Given the description of an element on the screen output the (x, y) to click on. 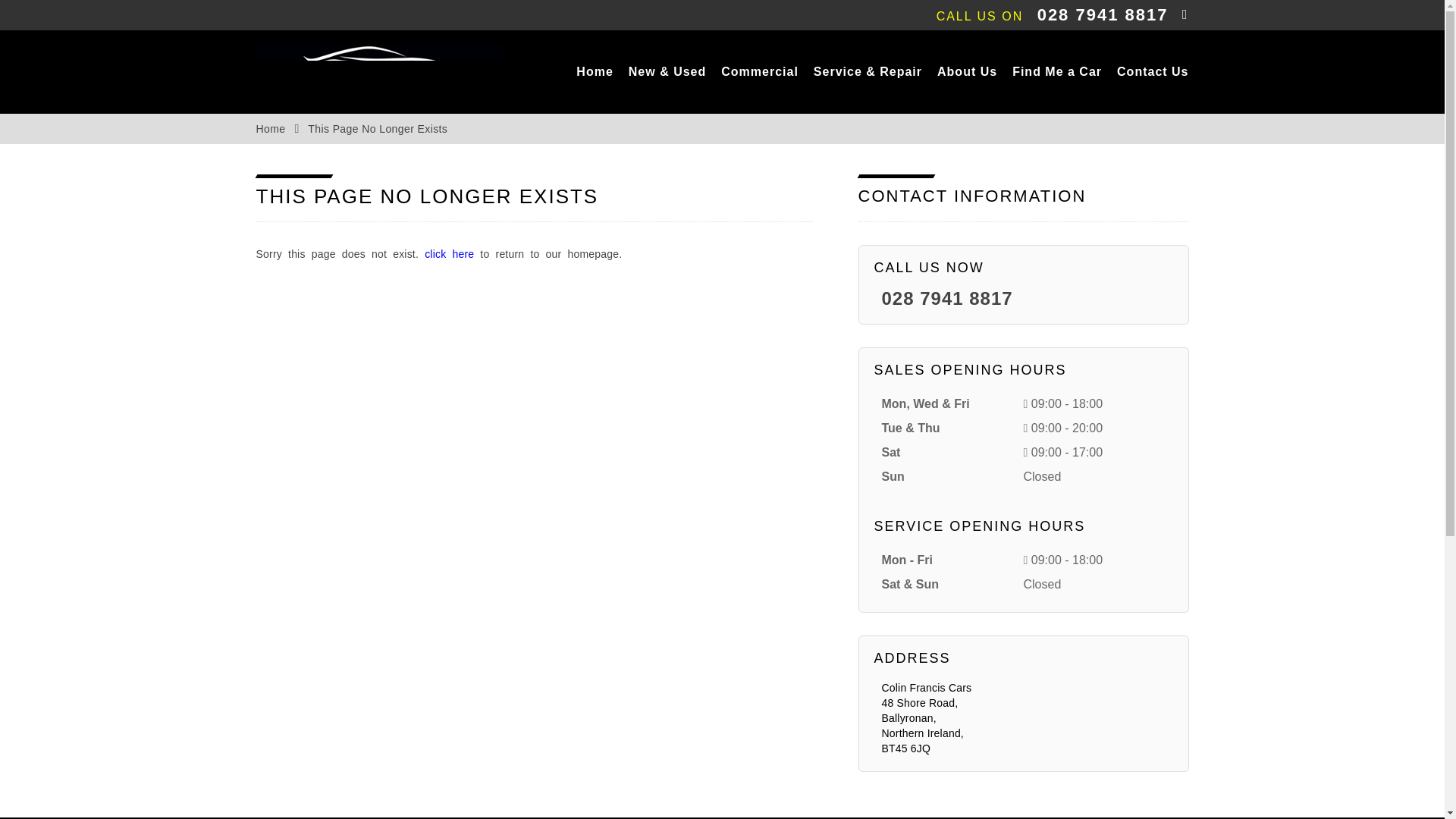
Commercial (758, 71)
Home (270, 128)
Find Me a Car (1056, 71)
028 7941 8817 (945, 298)
click here (449, 254)
This Page No Longer Exists (376, 128)
028 7941 8817 (1102, 14)
